Given the description of an element on the screen output the (x, y) to click on. 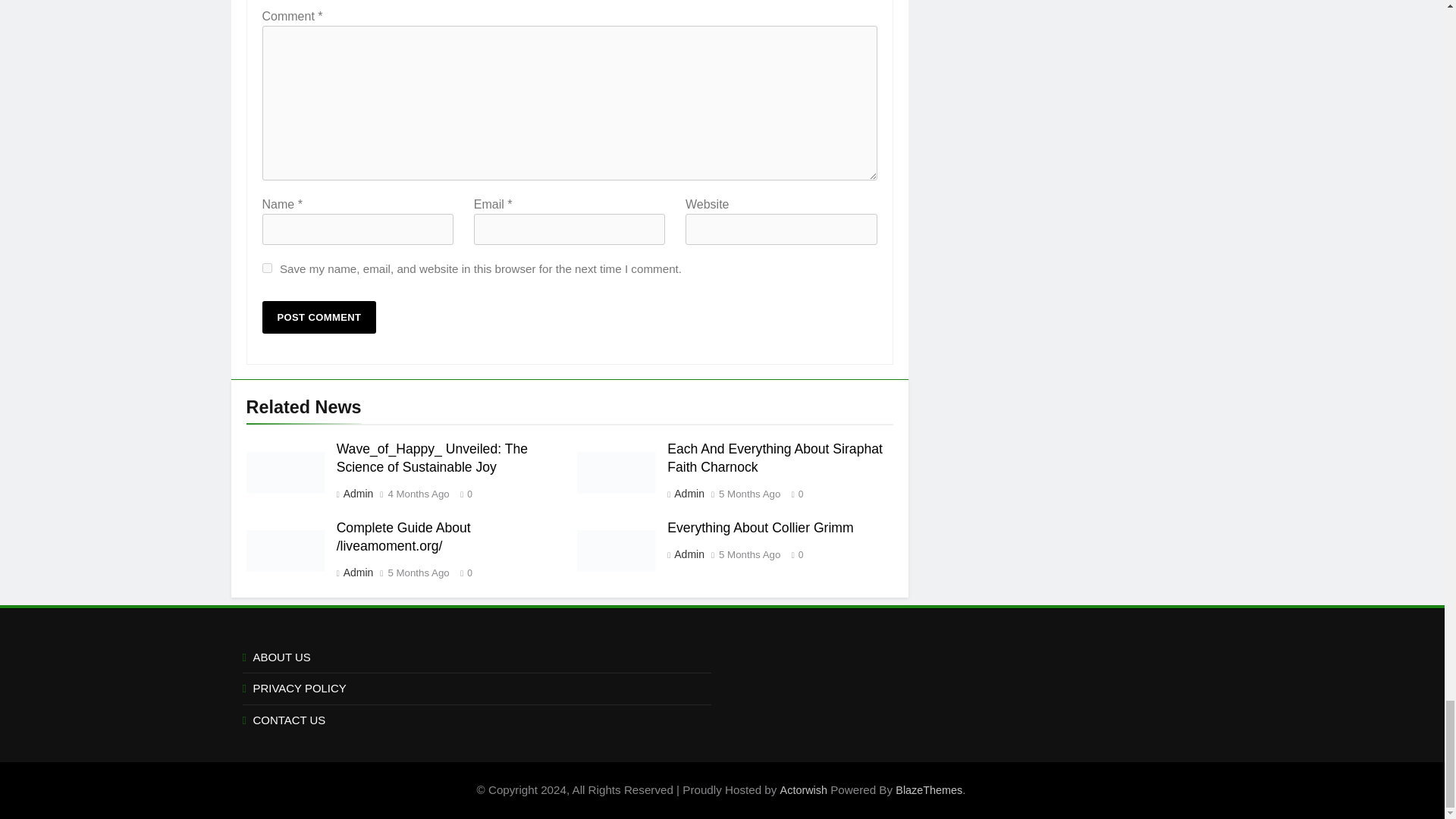
Post Comment (319, 317)
yes (267, 267)
